Given the description of an element on the screen output the (x, y) to click on. 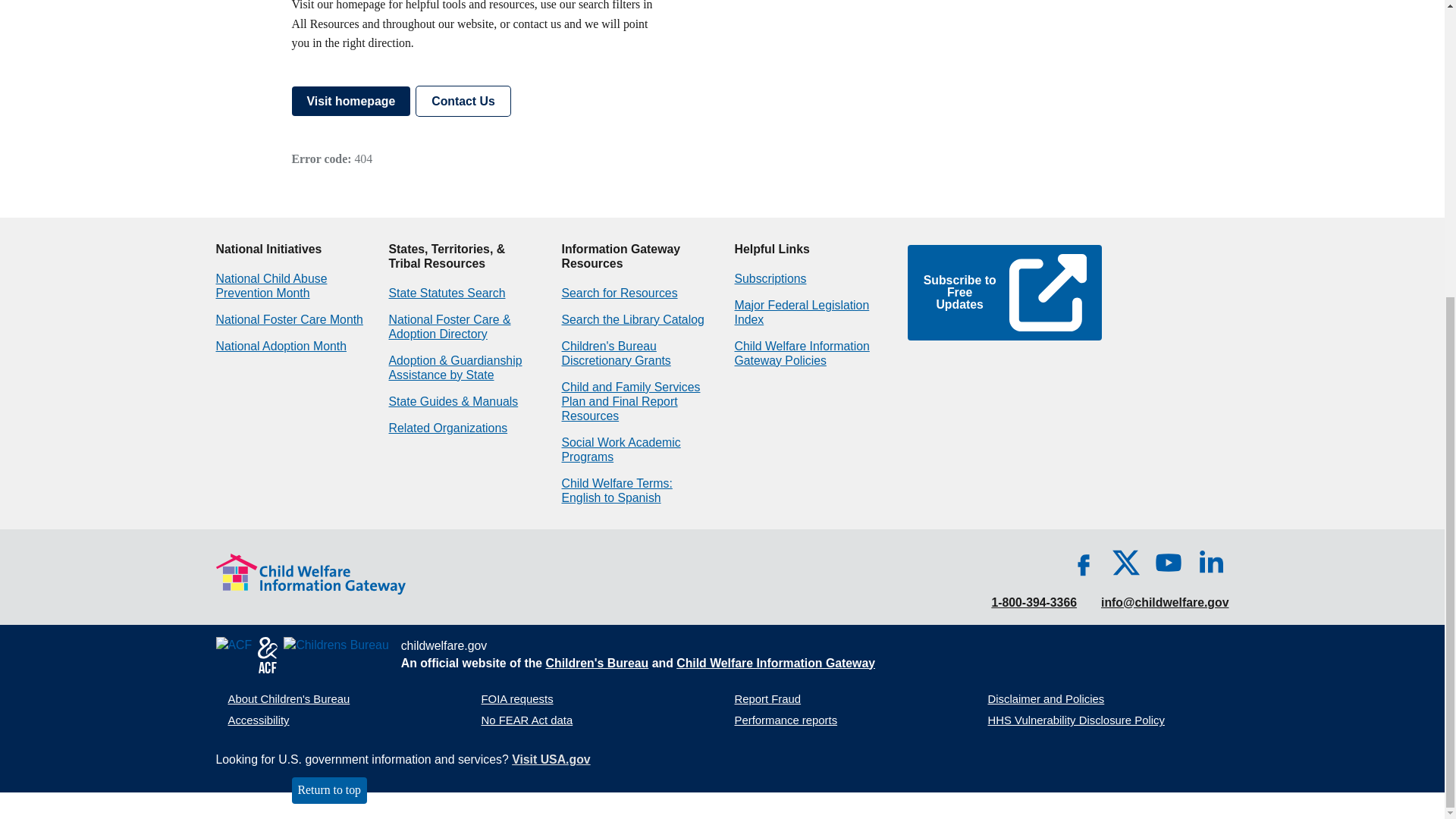
National Adoption Month (280, 345)
Contact Us (463, 100)
Child Welfare Terms: English to Spanish (615, 490)
Child and Family Services Plan and Final Report Resources (630, 401)
Children's Bureau Discretionary Grants (614, 352)
Subscriptions (769, 278)
Related Organizations (447, 427)
Major Federal Legislation Index (801, 311)
Search the Library Catalog (631, 318)
National Child Abuse Prevention Month (270, 285)
Search for Resources (618, 292)
Social Work Academic Programs (619, 449)
State Statutes Search (446, 292)
Child Welfare Information Gateway Policies (801, 352)
National Foster Care Month (288, 318)
